Given the description of an element on the screen output the (x, y) to click on. 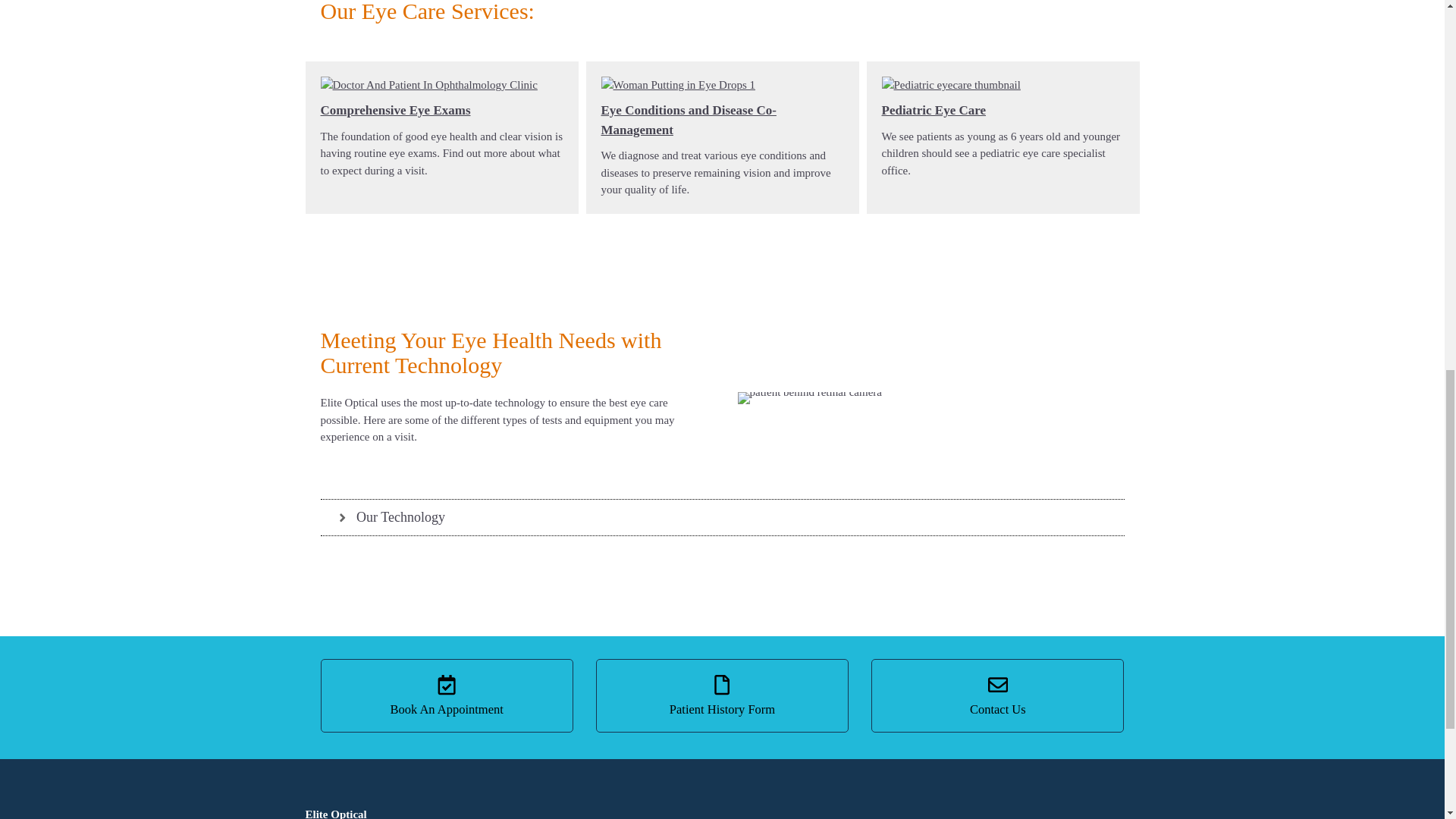
Comprehensive Eye Exams (395, 110)
Book An Appointment (446, 695)
Patient History Form (721, 695)
Contact Us (997, 695)
Pediatric Eye Care (932, 110)
Eye Conditions and Disease Co-Management (687, 120)
